Given the description of an element on the screen output the (x, y) to click on. 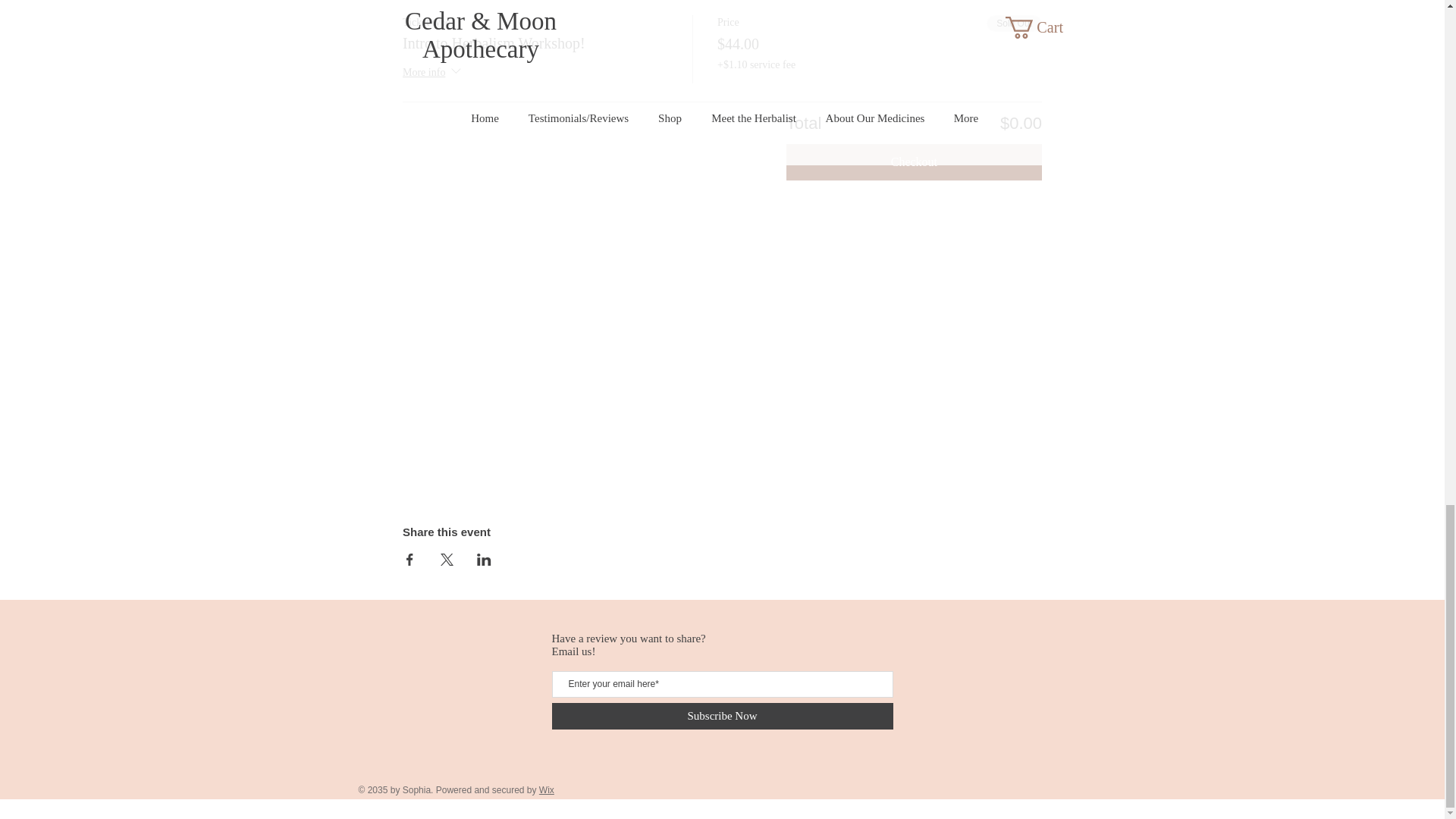
Subscribe Now (722, 715)
Checkout (914, 162)
Wix (546, 789)
More info (433, 73)
